Given the description of an element on the screen output the (x, y) to click on. 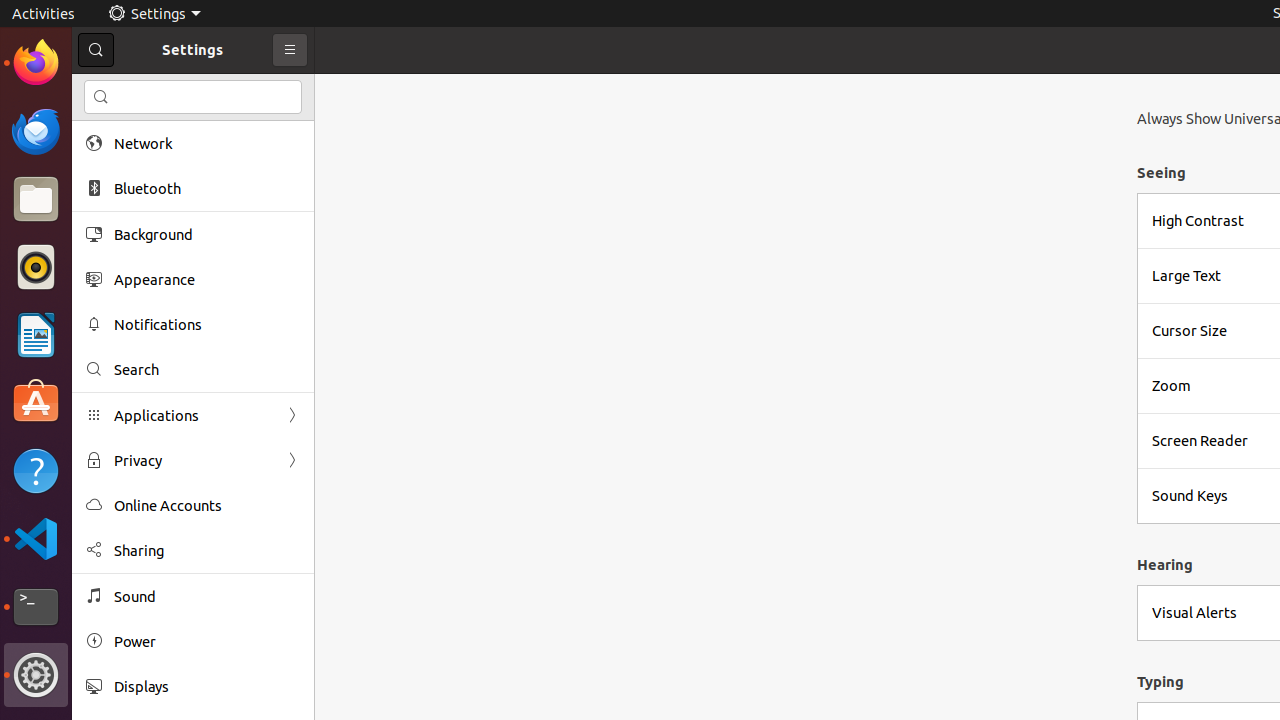
Primary Menu Element type: toggle-button (290, 50)
Background Element type: label (207, 234)
Trash Element type: label (133, 191)
Appearance Element type: label (207, 279)
